Given the description of an element on the screen output the (x, y) to click on. 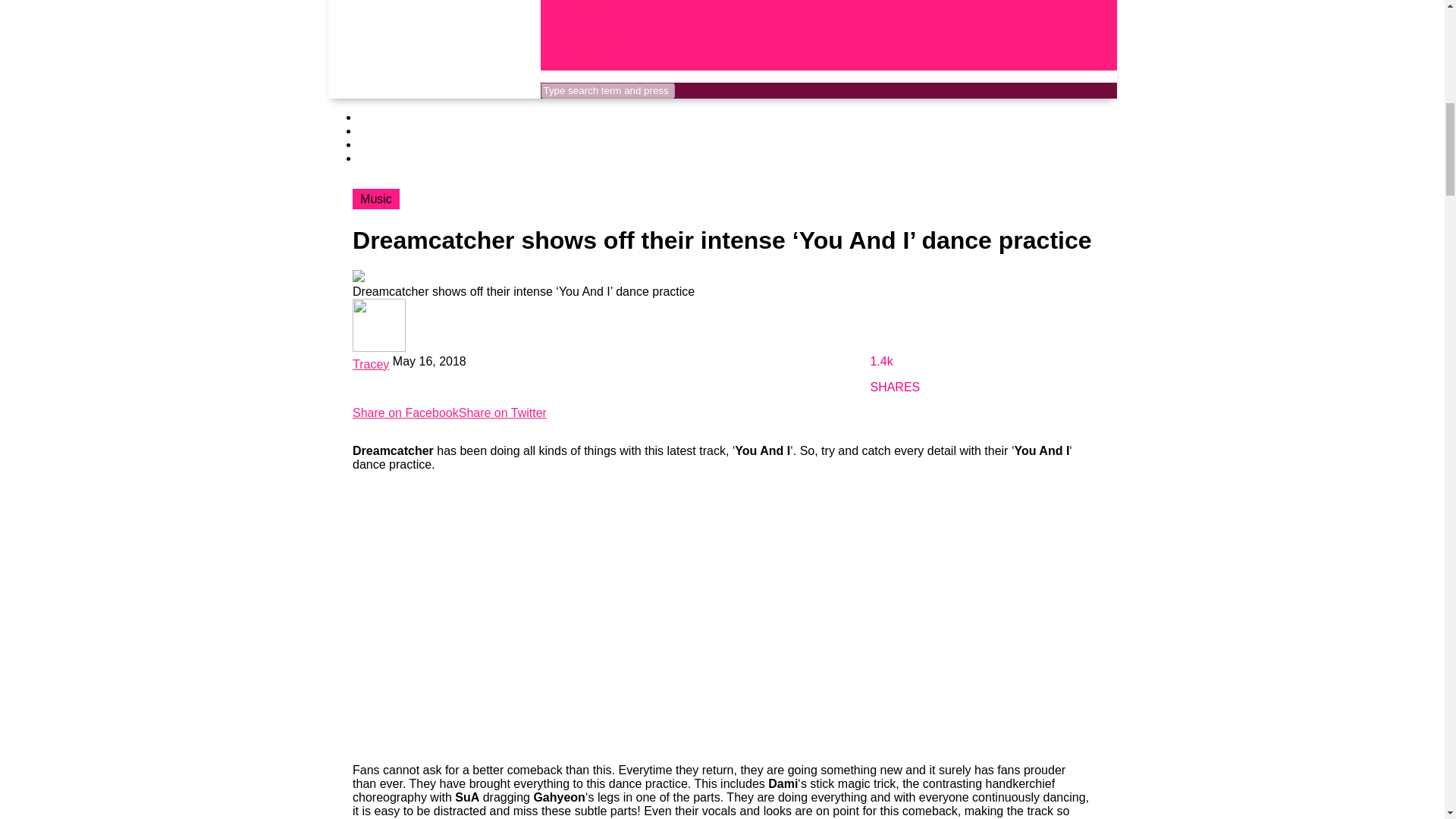
Posts by Tracey (370, 364)
Type search term and press enter (607, 90)
